Given the description of an element on the screen output the (x, y) to click on. 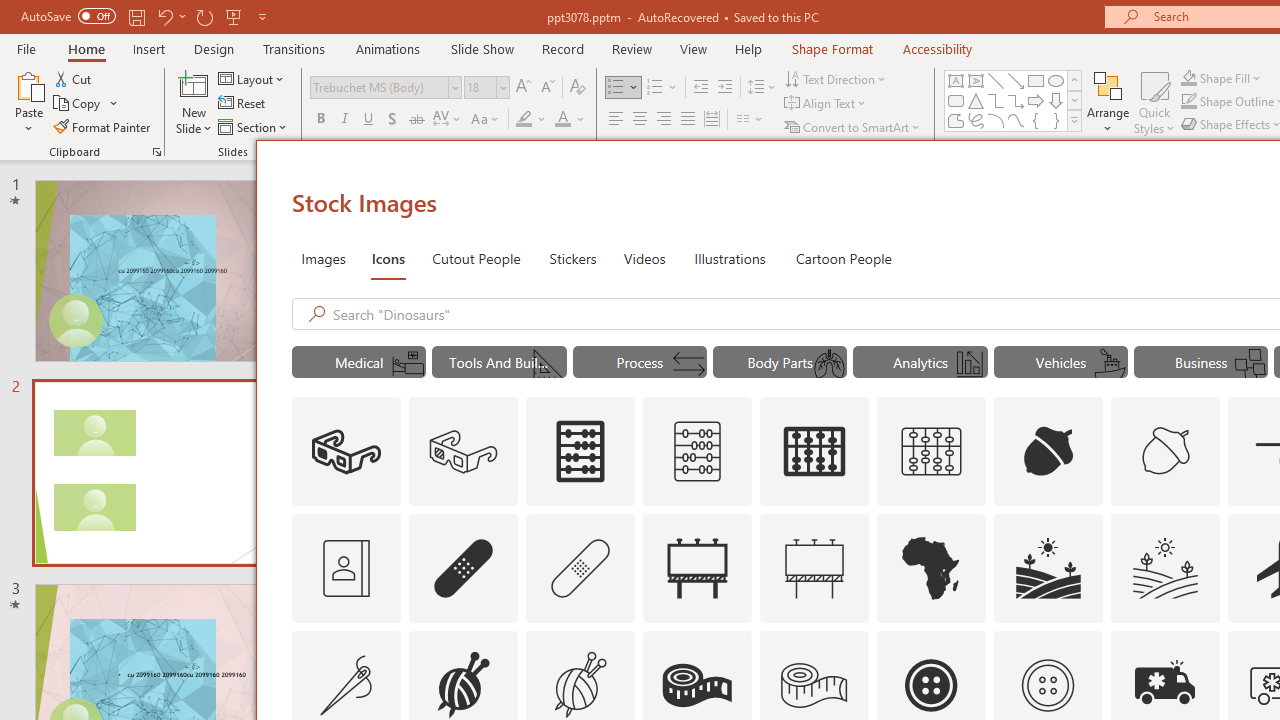
AutomationID: Icons_3dGlasses (346, 452)
AutomationID: Icons_Abacus (580, 452)
Images (322, 258)
